Given the description of an element on the screen output the (x, y) to click on. 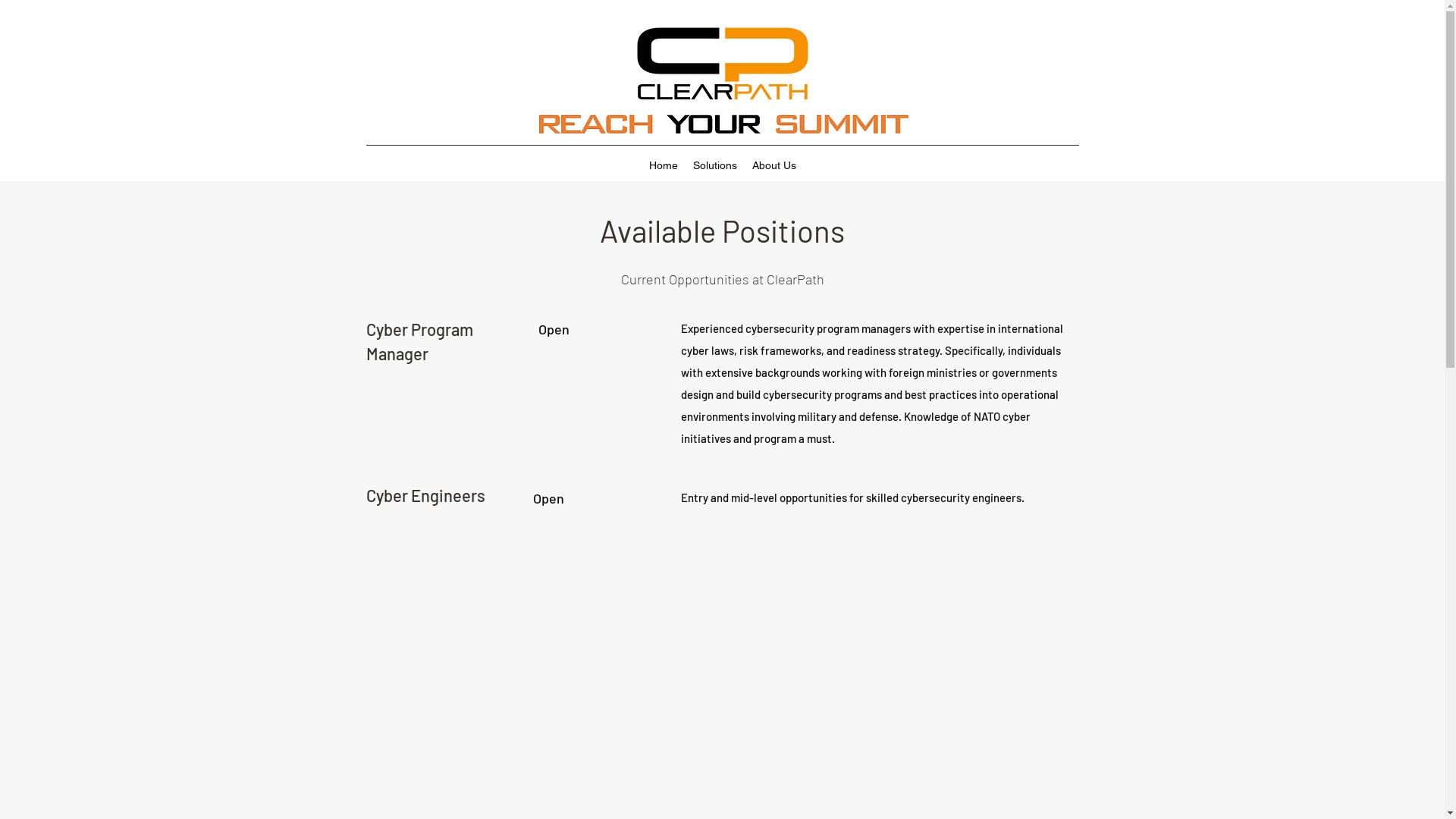
About Us Element type: text (773, 164)
Home Element type: text (663, 164)
Solutions Element type: text (714, 164)
